Given the description of an element on the screen output the (x, y) to click on. 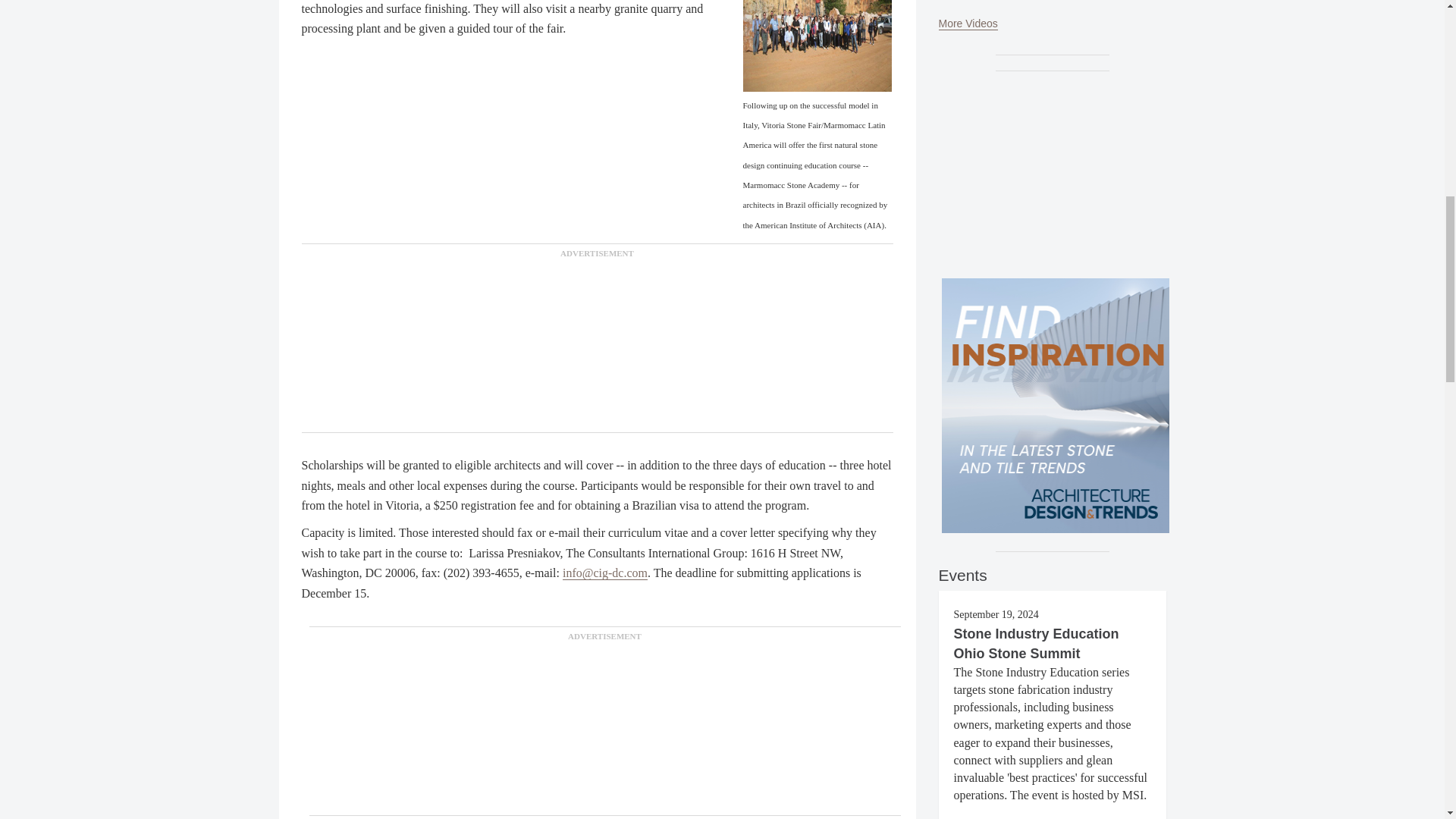
Stone Industry Education Ohio Stone Summit (1036, 643)
